Given the description of an element on the screen output the (x, y) to click on. 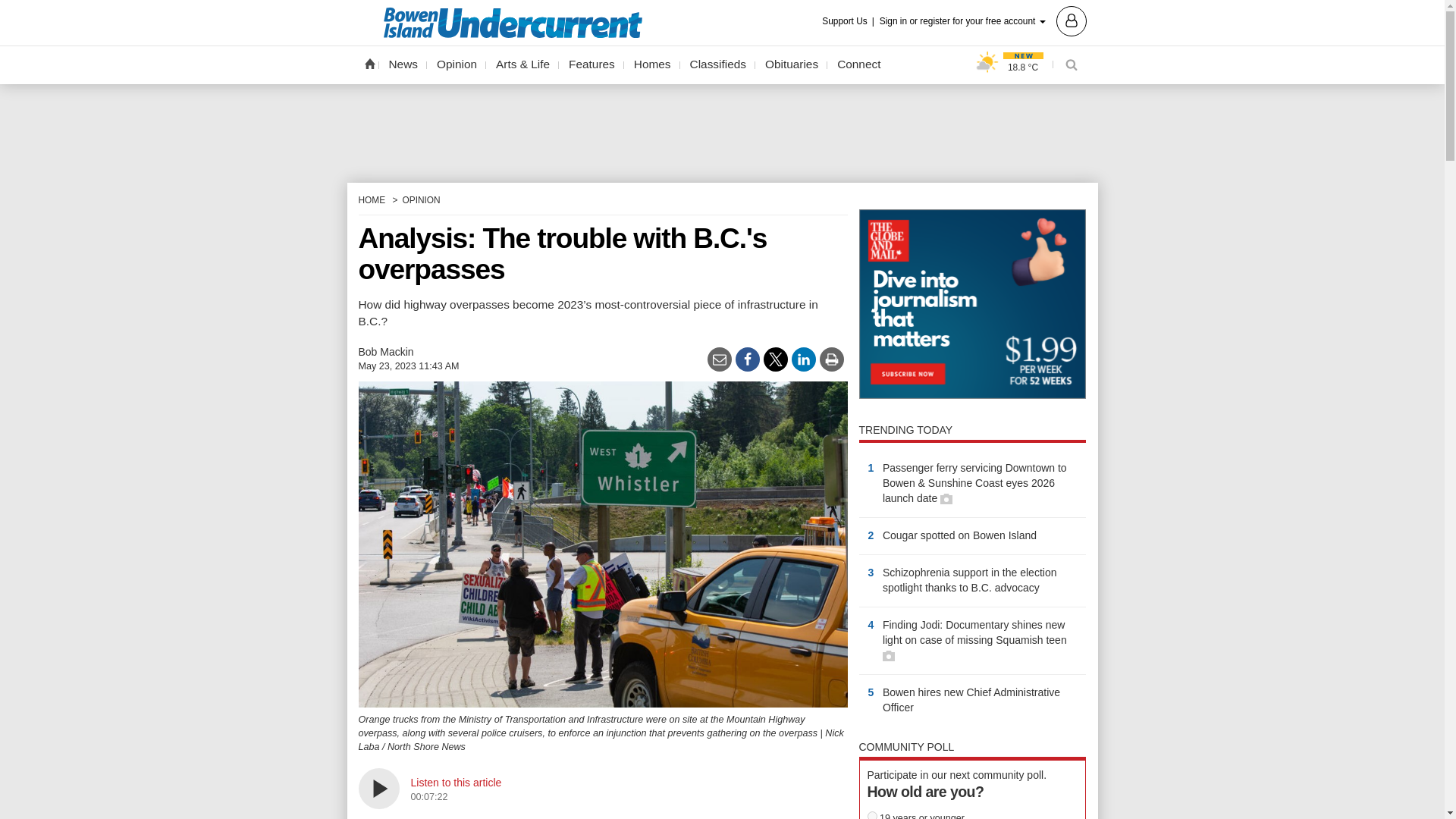
Has a gallery (888, 655)
Support Us (849, 21)
Opinion (456, 64)
News (403, 64)
Home (368, 63)
Sign in or register for your free account (982, 20)
121948 (872, 815)
Has a gallery (946, 499)
